Given the description of an element on the screen output the (x, y) to click on. 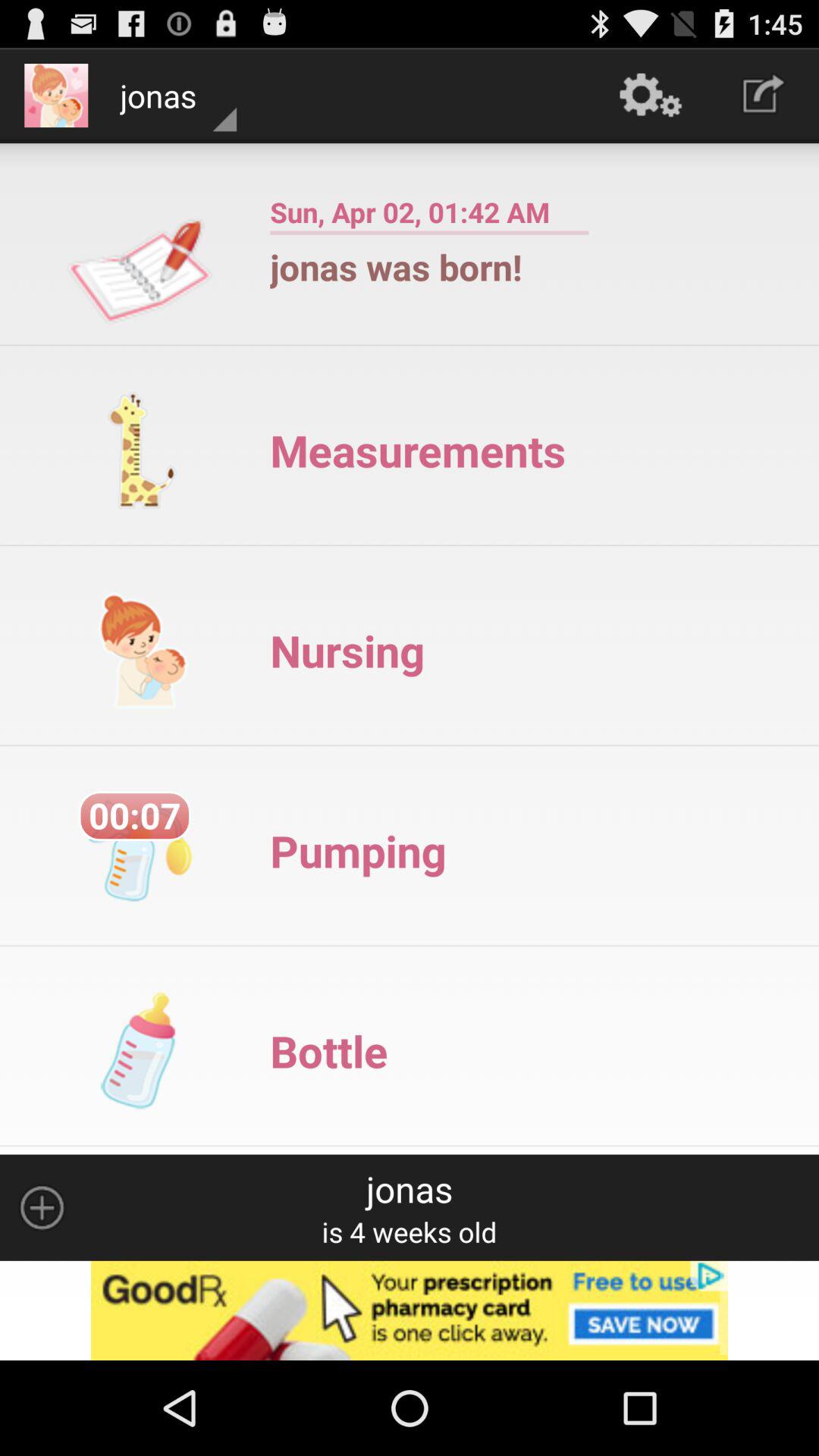
add another person (41, 1207)
